Given the description of an element on the screen output the (x, y) to click on. 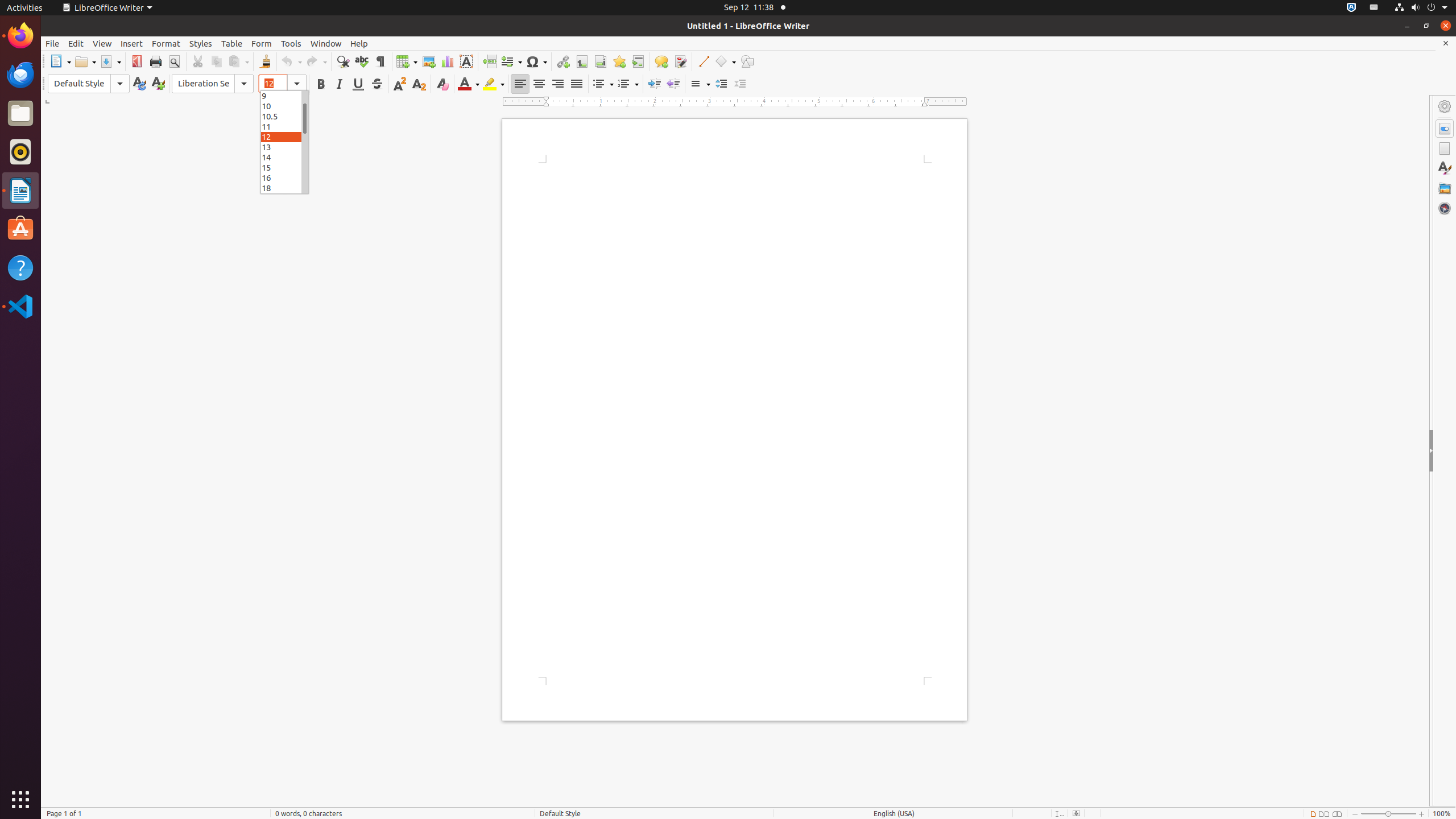
Chart Element type: push-button (446, 61)
Page Element type: radio-button (1444, 148)
LibreOffice Writer Element type: push-button (20, 190)
Page Break Element type: push-button (489, 61)
Form Element type: menu (261, 43)
